Given the description of an element on the screen output the (x, y) to click on. 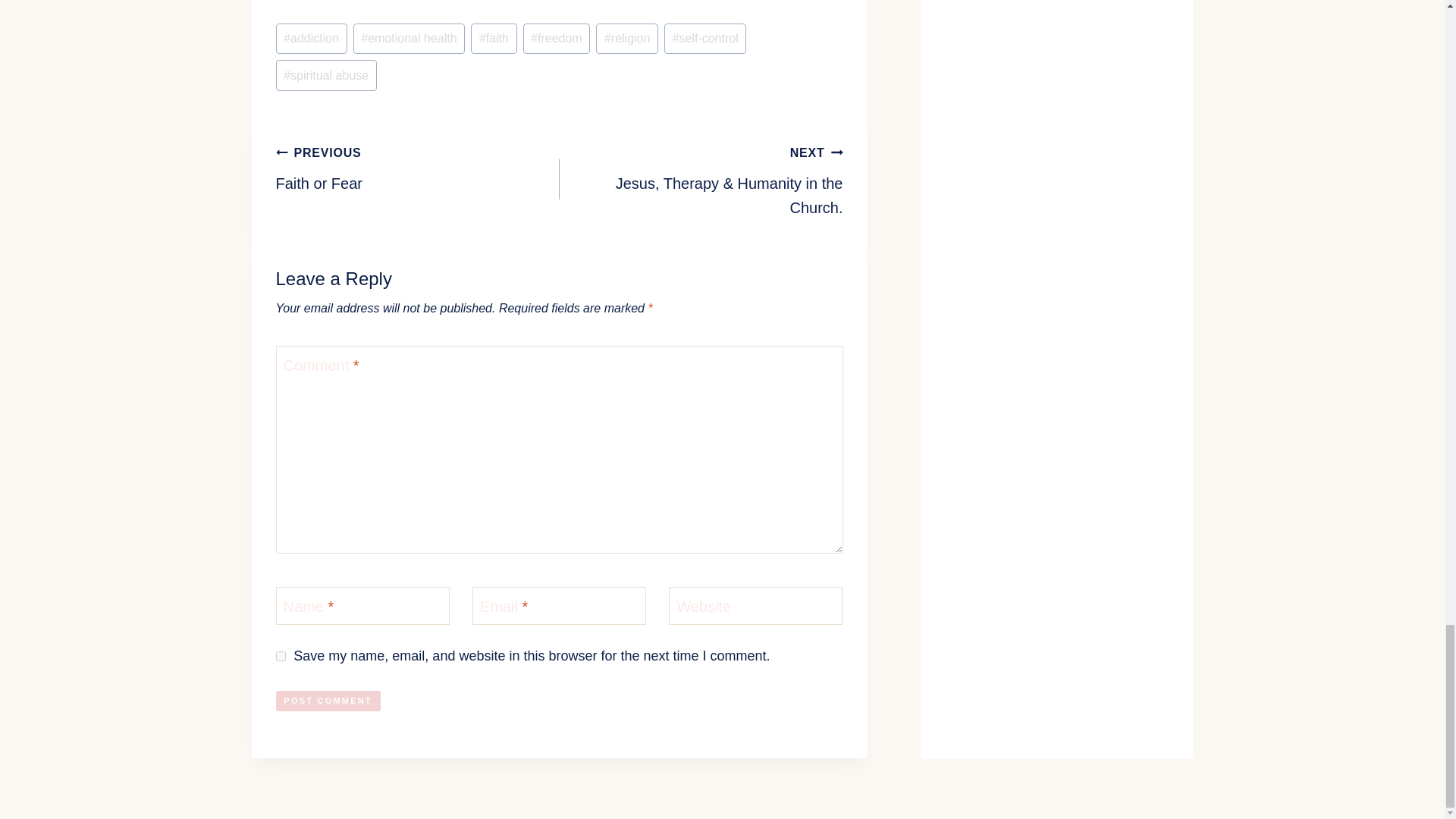
addiction (311, 38)
freedom (556, 38)
Post Comment (328, 700)
yes (280, 655)
spiritual abuse (326, 74)
self-control (704, 38)
faith (417, 167)
emotional health (493, 38)
religion (409, 38)
Post Comment (626, 38)
